Given the description of an element on the screen output the (x, y) to click on. 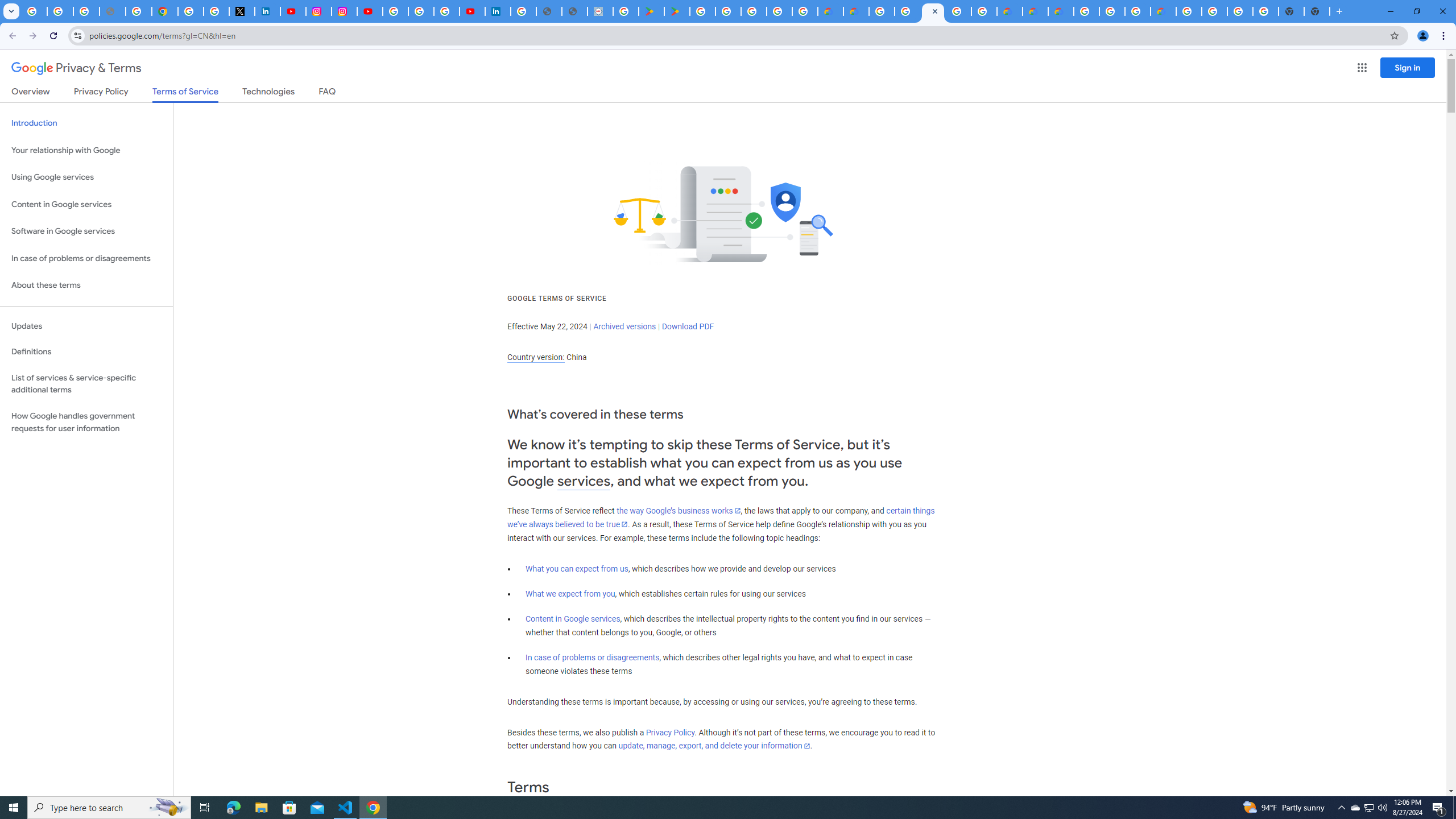
Data Privacy Framework (600, 11)
Customer Care | Google Cloud (830, 11)
Sign in - Google Accounts (395, 11)
Google Cloud Service Health (1162, 11)
Google Cloud Platform (881, 11)
Content in Google services (572, 618)
